Given the description of an element on the screen output the (x, y) to click on. 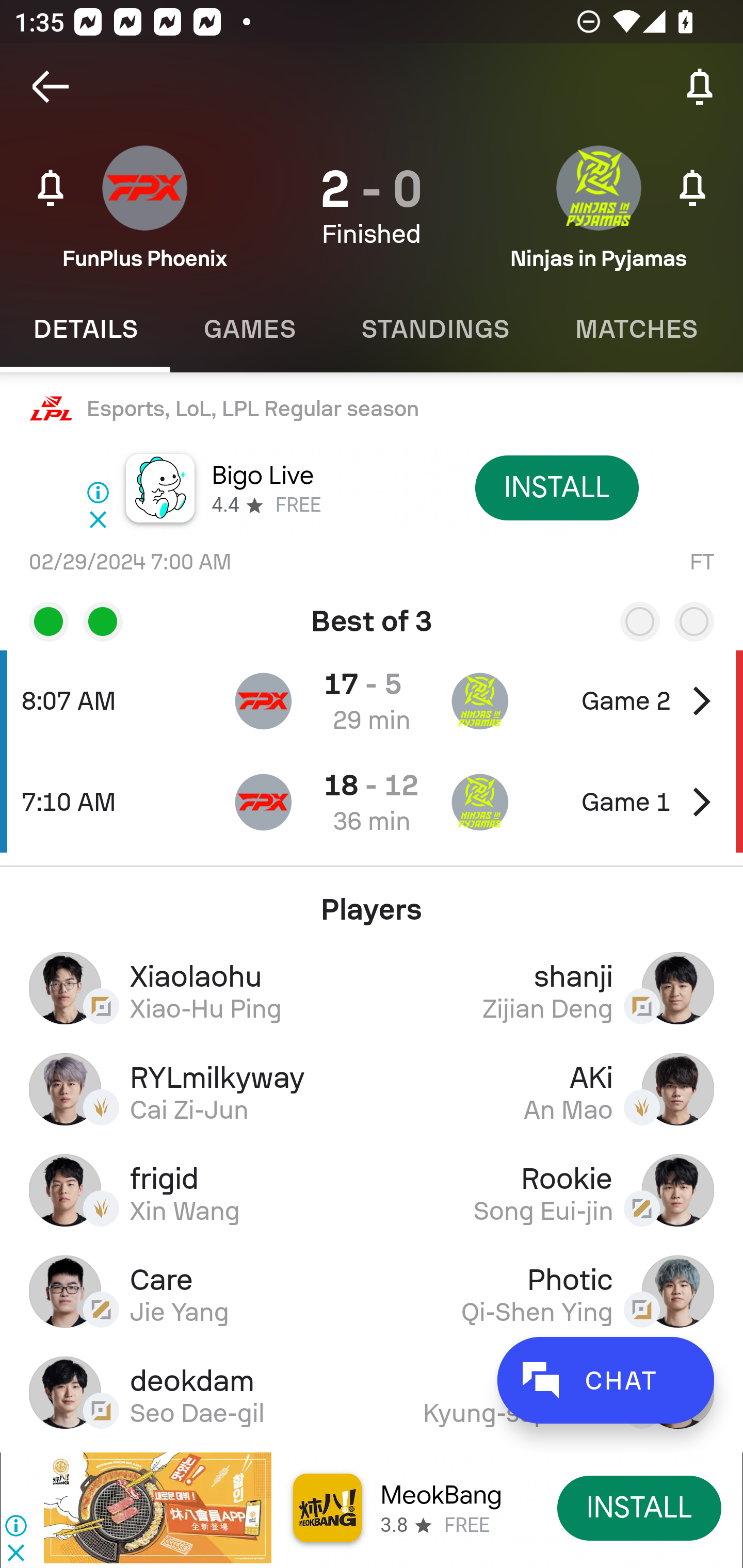
Navigate up (50, 86)
Games GAMES (249, 329)
Standings STANDINGS (434, 329)
Matches MATCHES (635, 329)
Esports, LoL, LPL Regular season (371, 409)
INSTALL (556, 487)
Bigo Live (262, 475)
Best of 3 (371, 614)
8:07 AM 17 - 5 29 min Game 2 (371, 700)
7:10 AM 18 - 12 36 min Game 1 (371, 801)
Players (371, 902)
Xiaolaohu shanji Xiao-Hu Ping Zijian Deng (371, 987)
RYLmilkyway AKi Cai Zi-Jun An Mao (371, 1088)
frigid Rookie Xin Wang Song Eui-jin (371, 1189)
Care Photic Jie Yang Qi-Shen Ying (371, 1291)
CHAT (605, 1380)
INSTALL (639, 1507)
MeokBang (440, 1494)
